Given the description of an element on the screen output the (x, y) to click on. 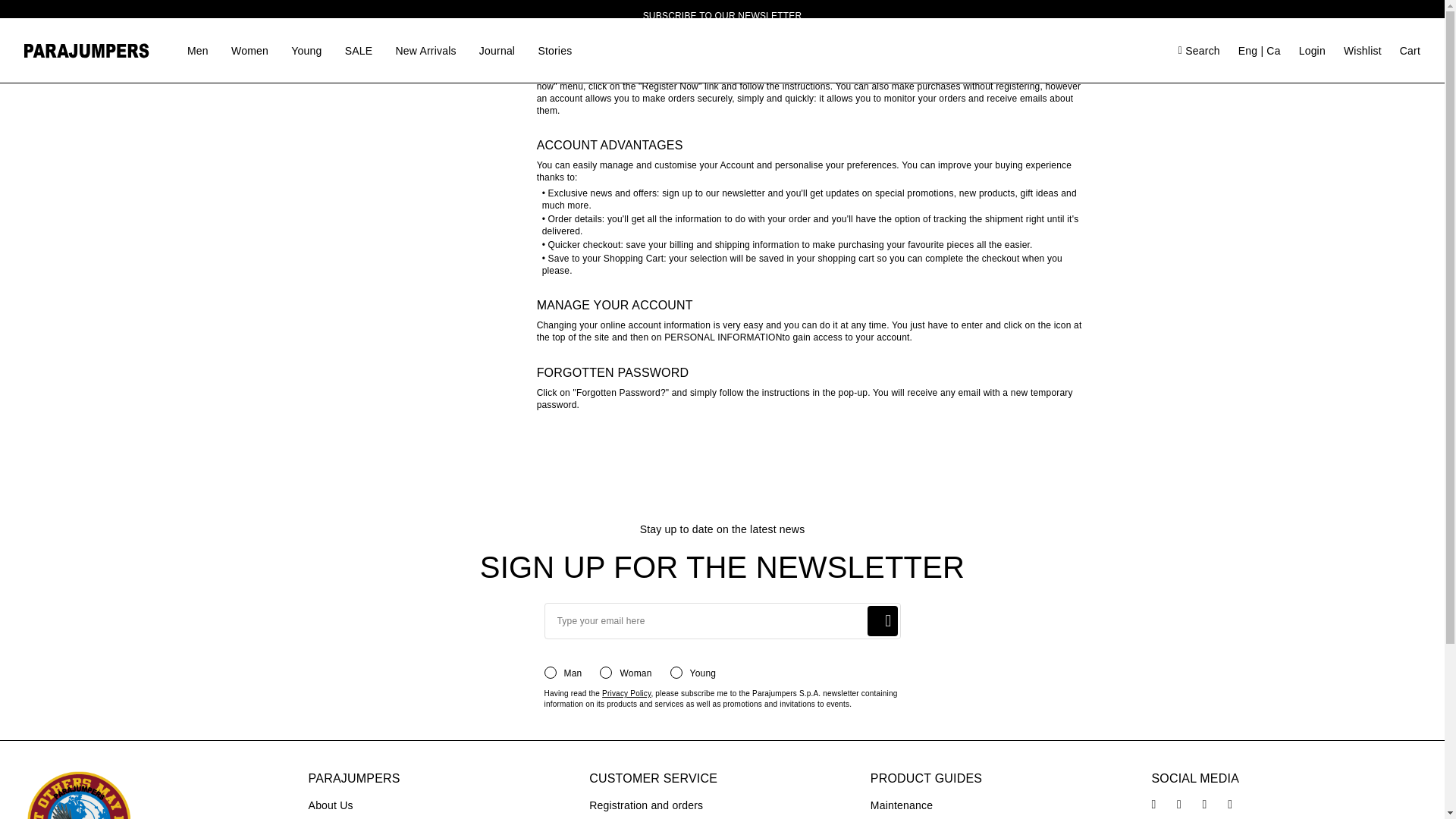
Men (197, 50)
Conditions of sale (400, 34)
young (783, 112)
Legal area (379, 63)
Login (780, 204)
Privacy Policy (626, 693)
women (717, 112)
Search (881, 68)
SUBSCRIBE TO OUR NEWSLETTER (722, 15)
Register now (82, 154)
